Given the description of an element on the screen output the (x, y) to click on. 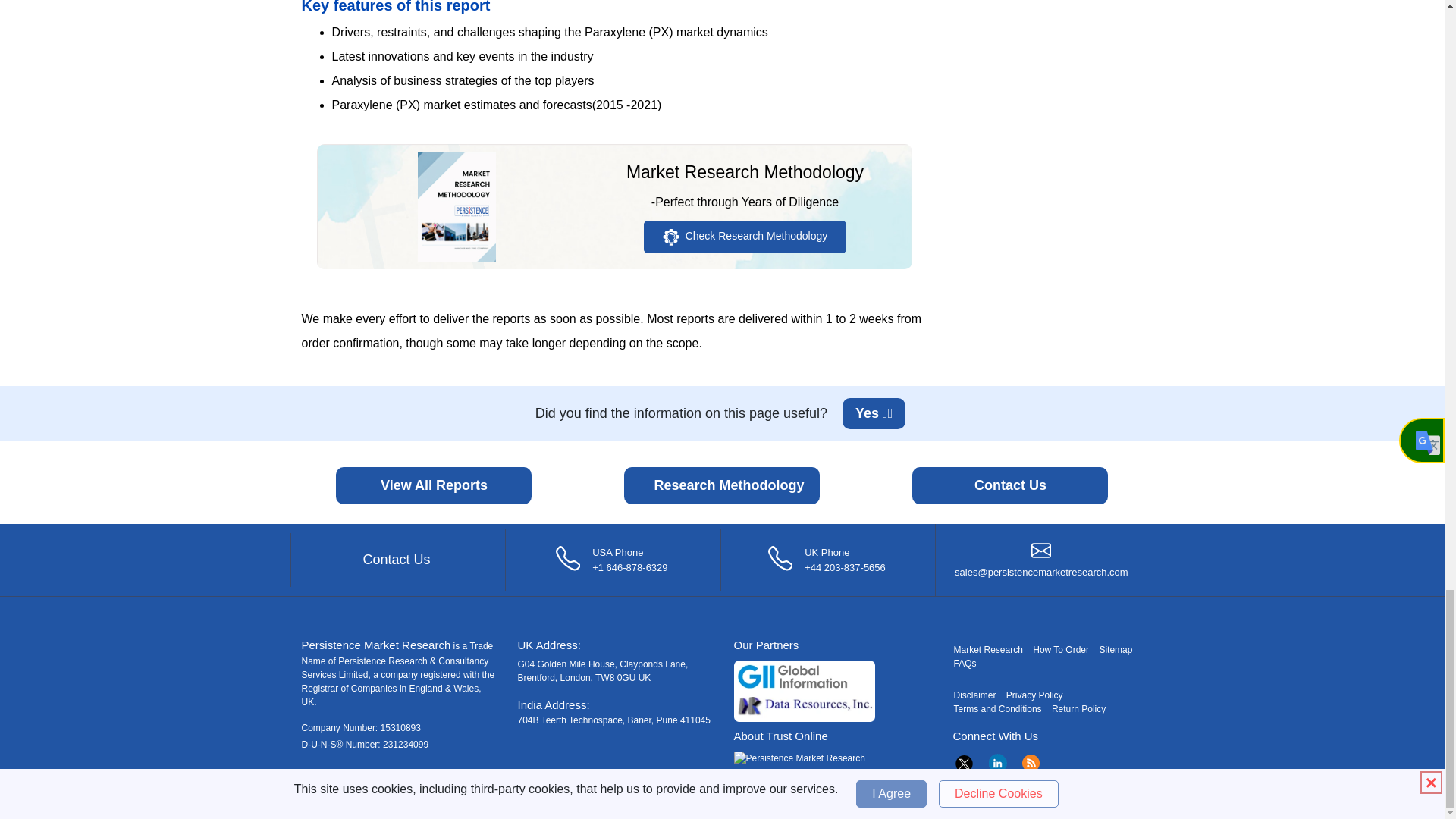
Check Research Methodology (744, 236)
